Given the description of an element on the screen output the (x, y) to click on. 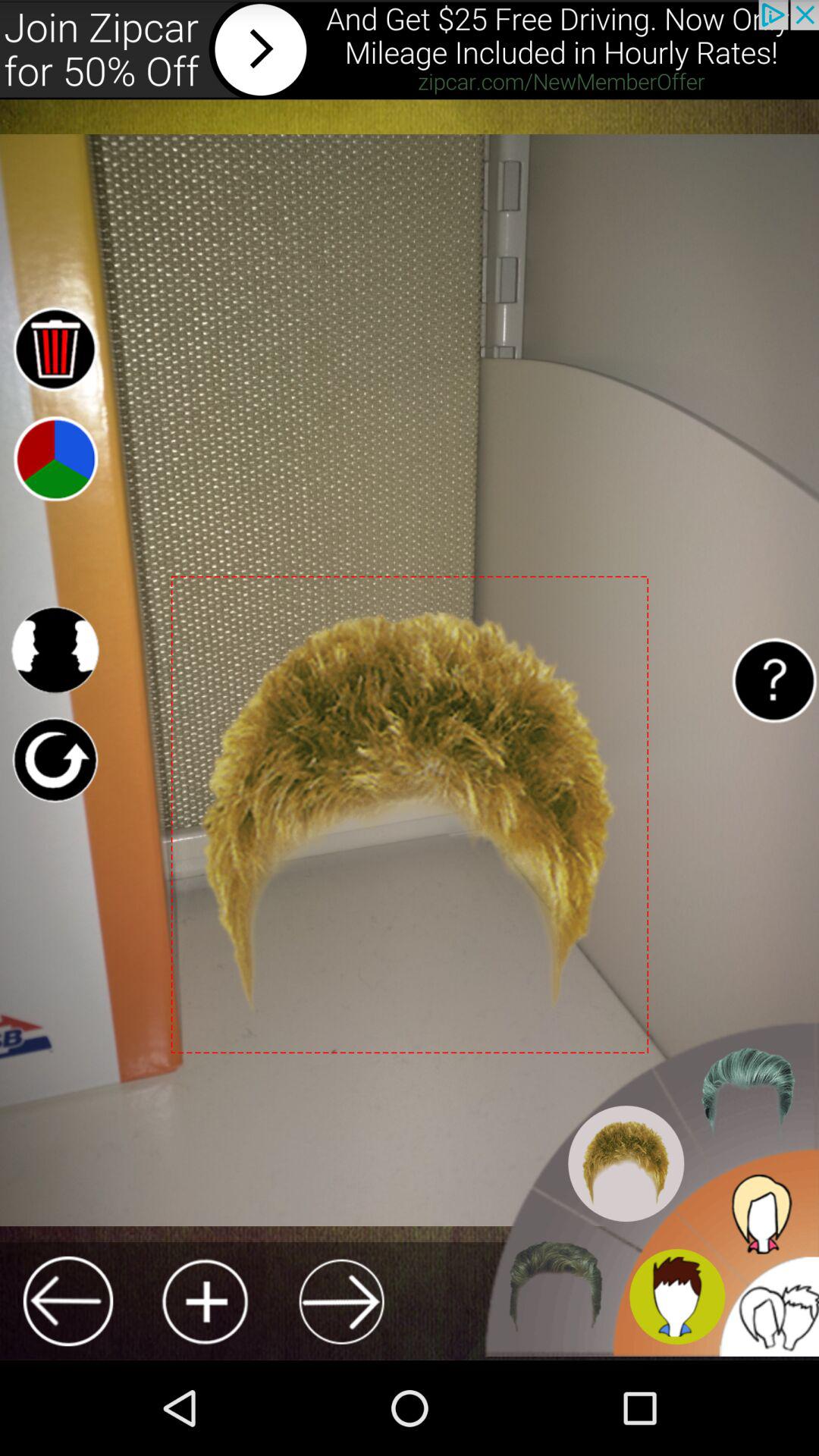
color option (55, 458)
